Given the description of an element on the screen output the (x, y) to click on. 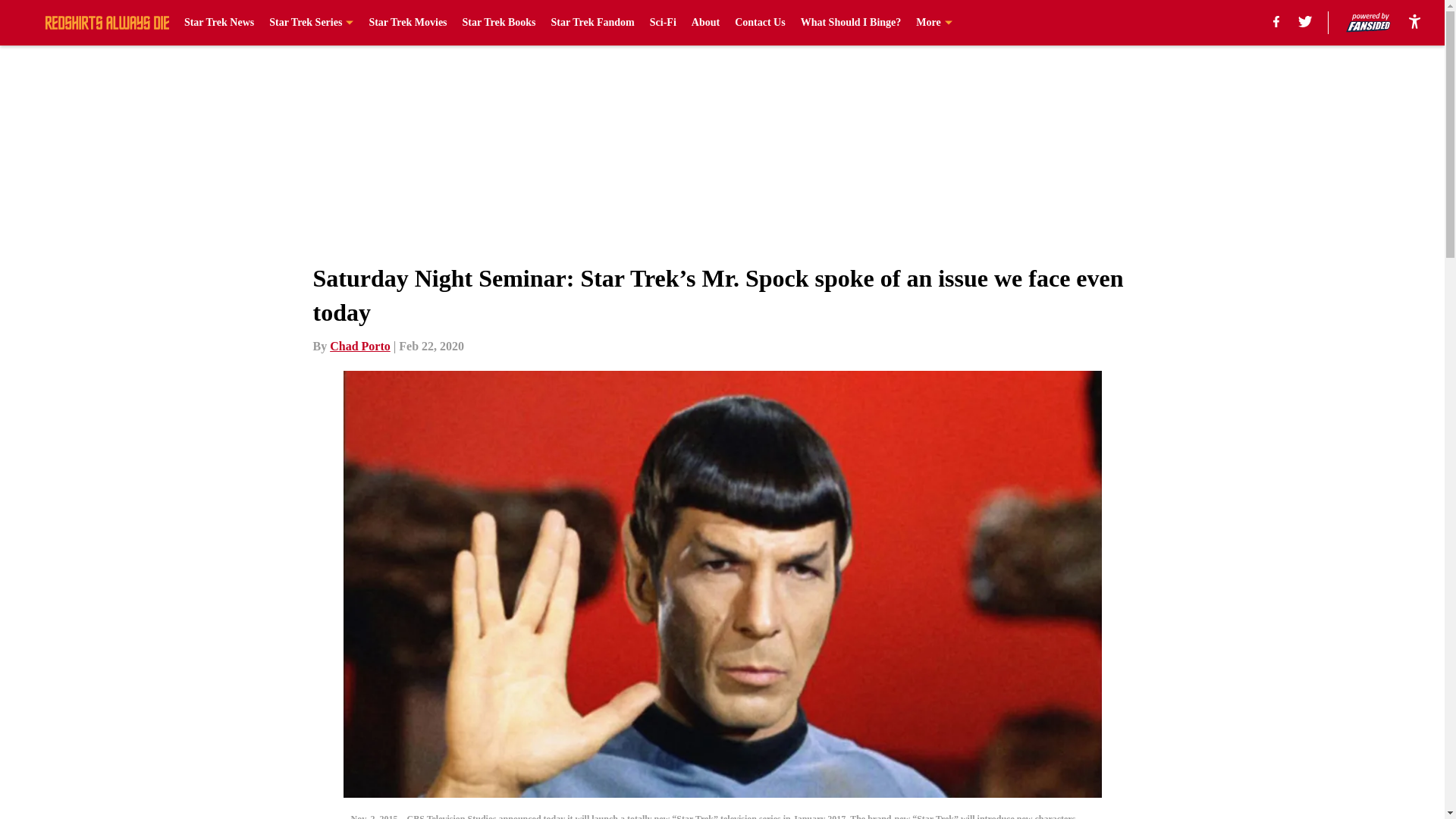
Star Trek Books (499, 22)
Sci-Fi (663, 22)
Contact Us (760, 22)
More (933, 22)
Star Trek News (218, 22)
What Should I Binge? (850, 22)
Star Trek Movies (407, 22)
Chad Porto (360, 345)
About (705, 22)
Star Trek Fandom (592, 22)
